Given the description of an element on the screen output the (x, y) to click on. 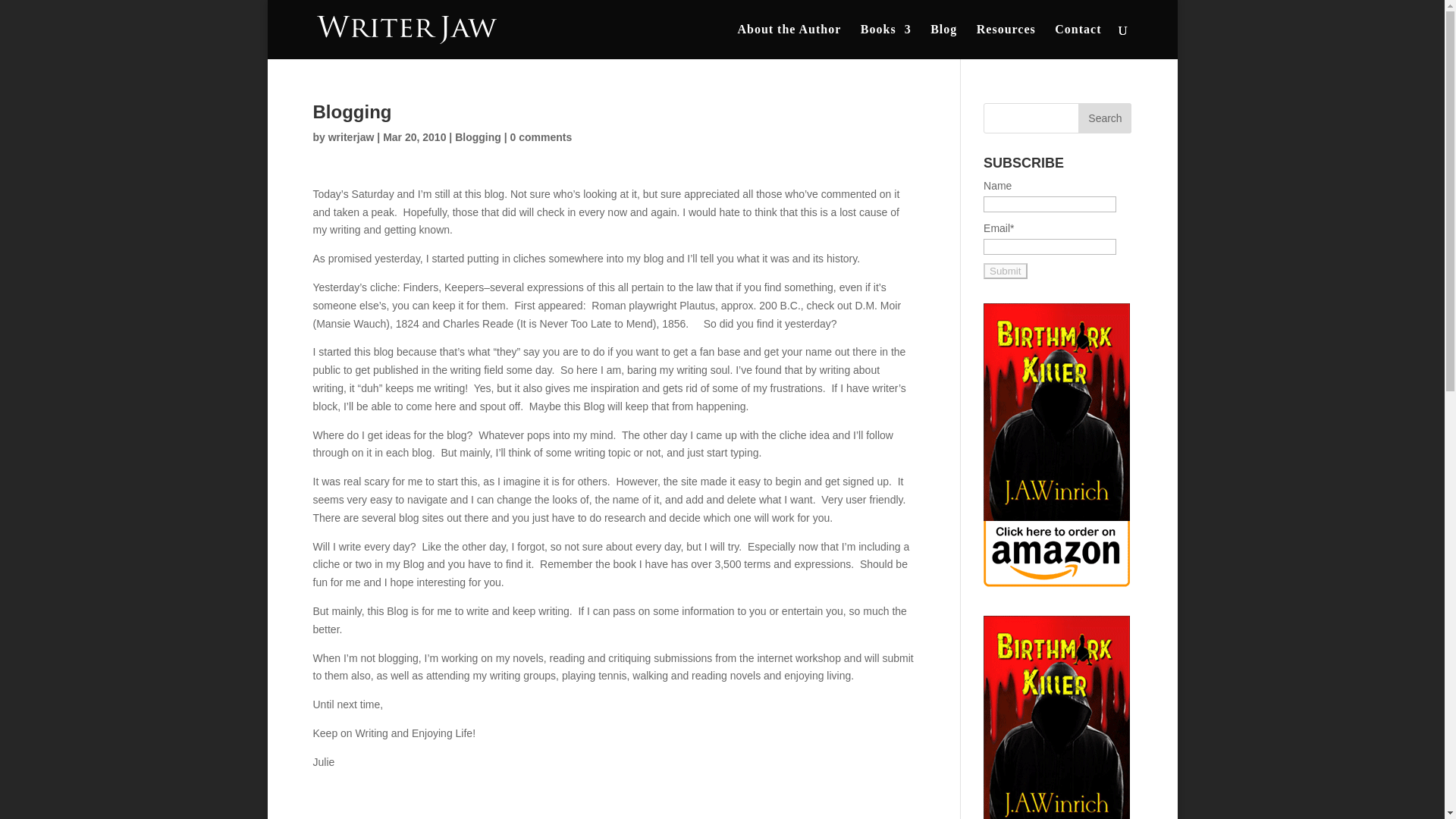
Submit (1005, 270)
0 comments (540, 137)
writerjaw (351, 137)
Posts by writerjaw (351, 137)
About the Author (788, 41)
Blogging (477, 137)
Search (1104, 118)
Search (1104, 118)
Submit (1005, 270)
Resources (1005, 41)
